Given the description of an element on the screen output the (x, y) to click on. 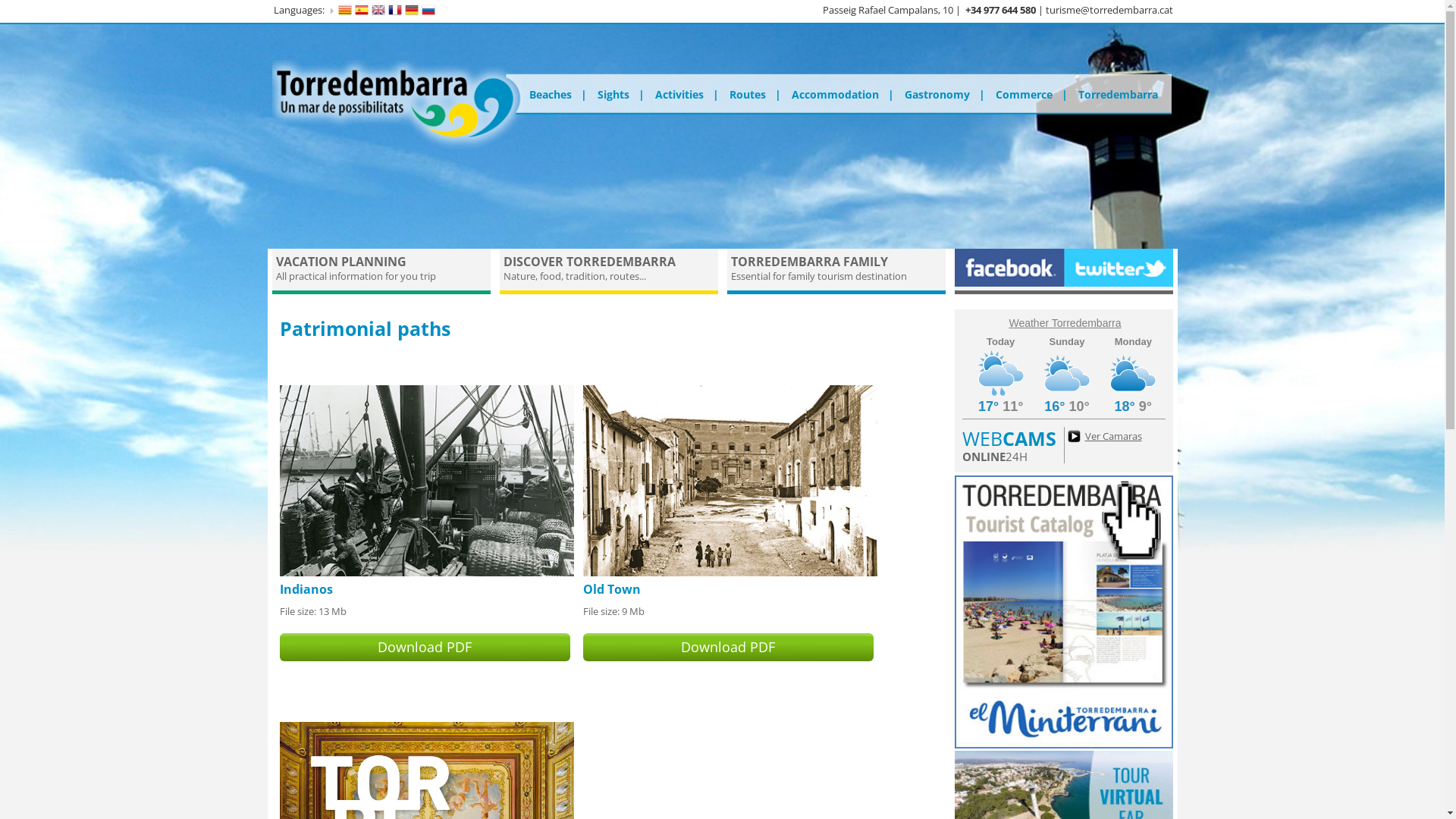
TORREDEMBARRA FAMILY Element type: text (809, 261)
Indianos Element type: hover (426, 572)
All practical information for you trip Element type: text (356, 275)
Sights Element type: text (620, 94)
Gastronomy Element type: text (944, 94)
Essential for family tourism destination Element type: text (818, 275)
Torredembarra Element type: text (1117, 94)
Twitter Torredembarra Element type: hover (1117, 282)
Download PDF Element type: text (727, 647)
DISCOVER TORREDEMBARRA Element type: text (589, 261)
Accommodation Element type: text (841, 94)
Download PDF Element type: text (424, 647)
Facebook Torredembarra Element type: hover (1008, 282)
Beaches Element type: text (552, 94)
Ver Camaras Element type: text (1103, 435)
Nature, food, tradition, routes... Element type: text (574, 275)
Routes Element type: text (754, 94)
English Element type: hover (378, 9)
Ruso Element type: hover (428, 9)
VACATION PLANNING Element type: text (341, 261)
Old Town Element type: hover (729, 572)
Old Town Element type: text (611, 588)
Deutch Element type: hover (411, 9)
Activities Element type: text (686, 94)
Indianos Element type: text (305, 588)
turisme@torredembarra.cat Element type: text (1108, 9)
Commerce Element type: text (1031, 94)
